Given the description of an element on the screen output the (x, y) to click on. 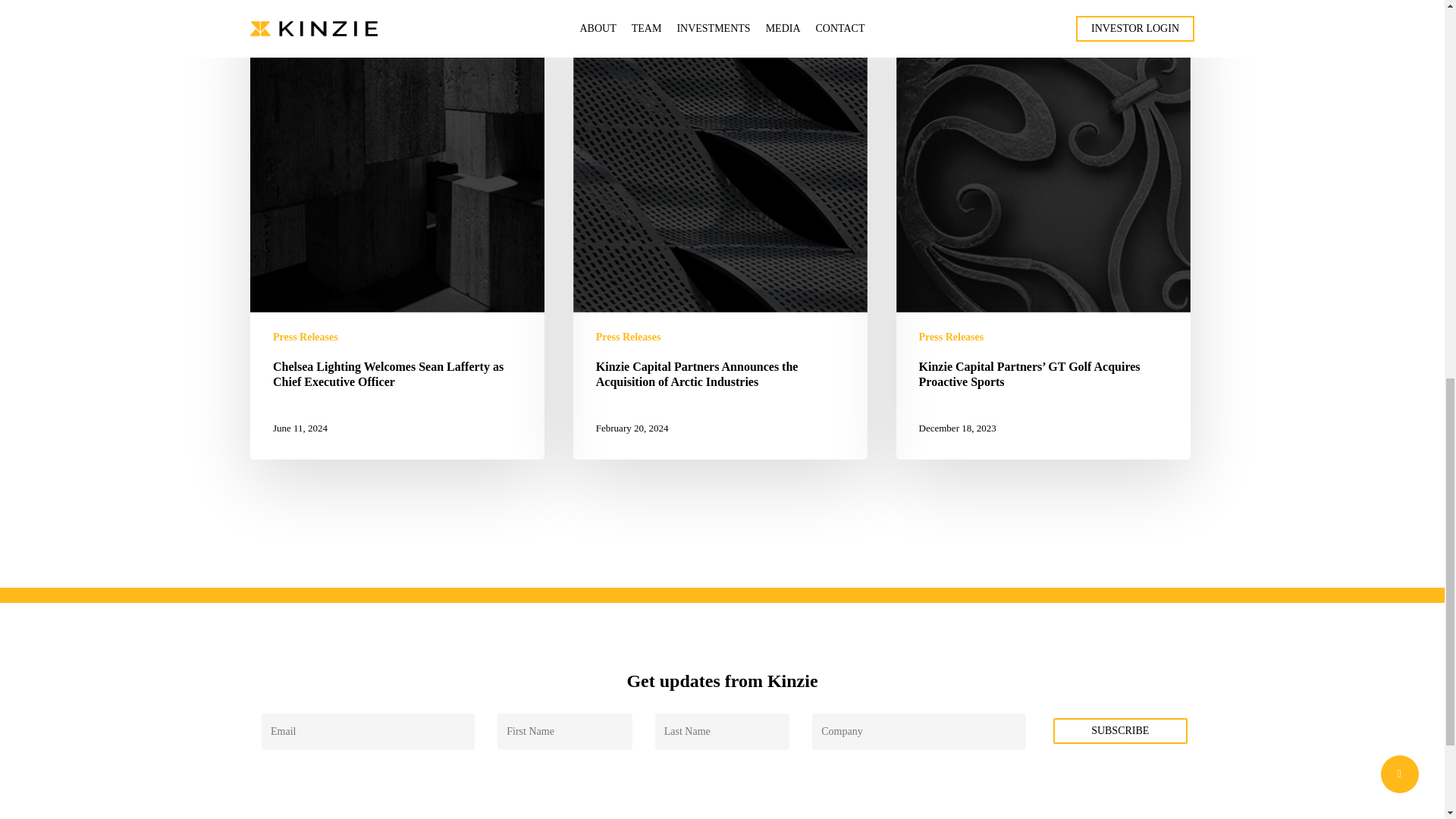
Press Releases (628, 336)
Press Releases (951, 336)
Press Releases (305, 336)
SUBSCRIBE (1120, 730)
